Given the description of an element on the screen output the (x, y) to click on. 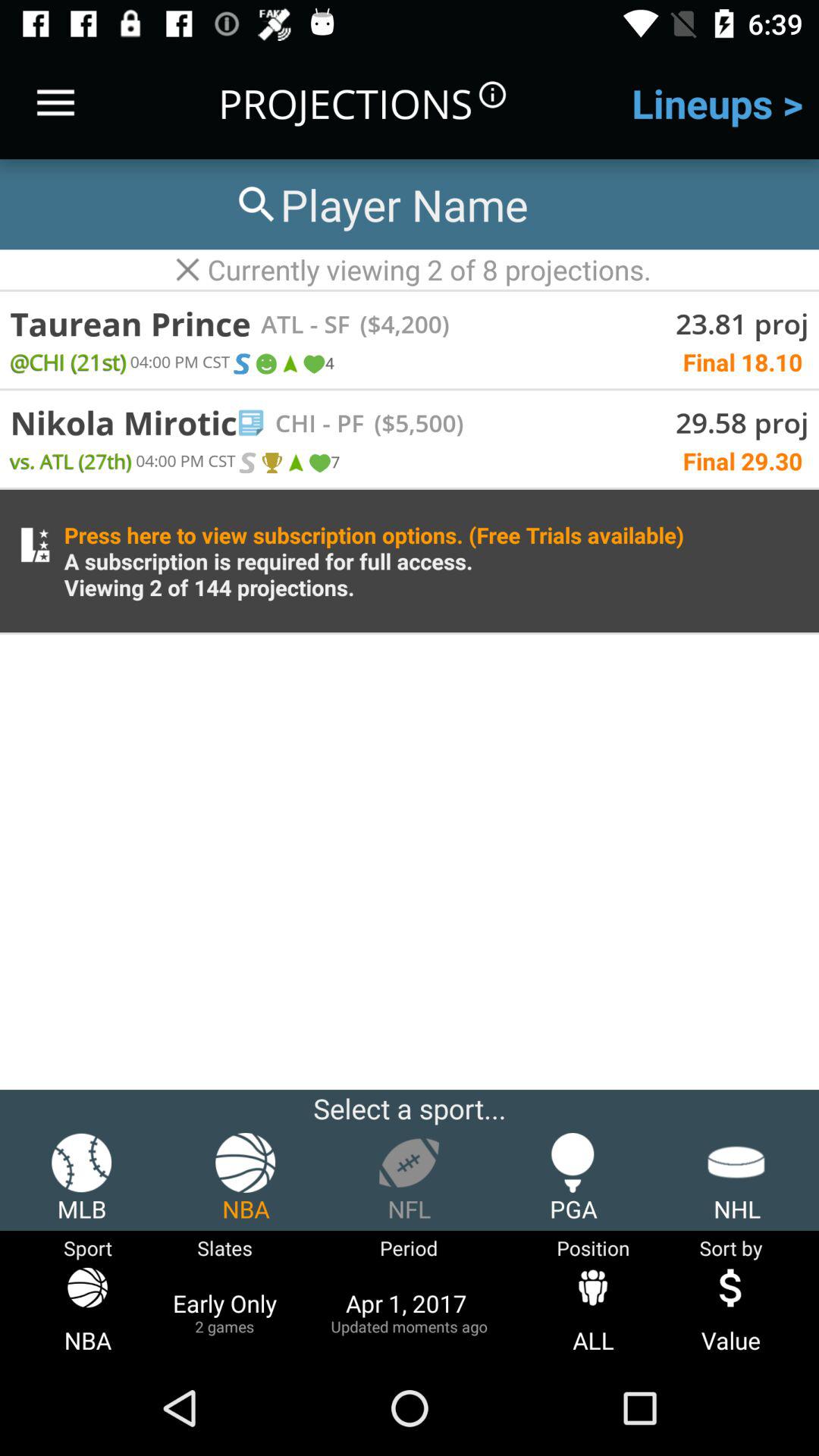
tap the icon above the final 18.10 (399, 323)
